Given the description of an element on the screen output the (x, y) to click on. 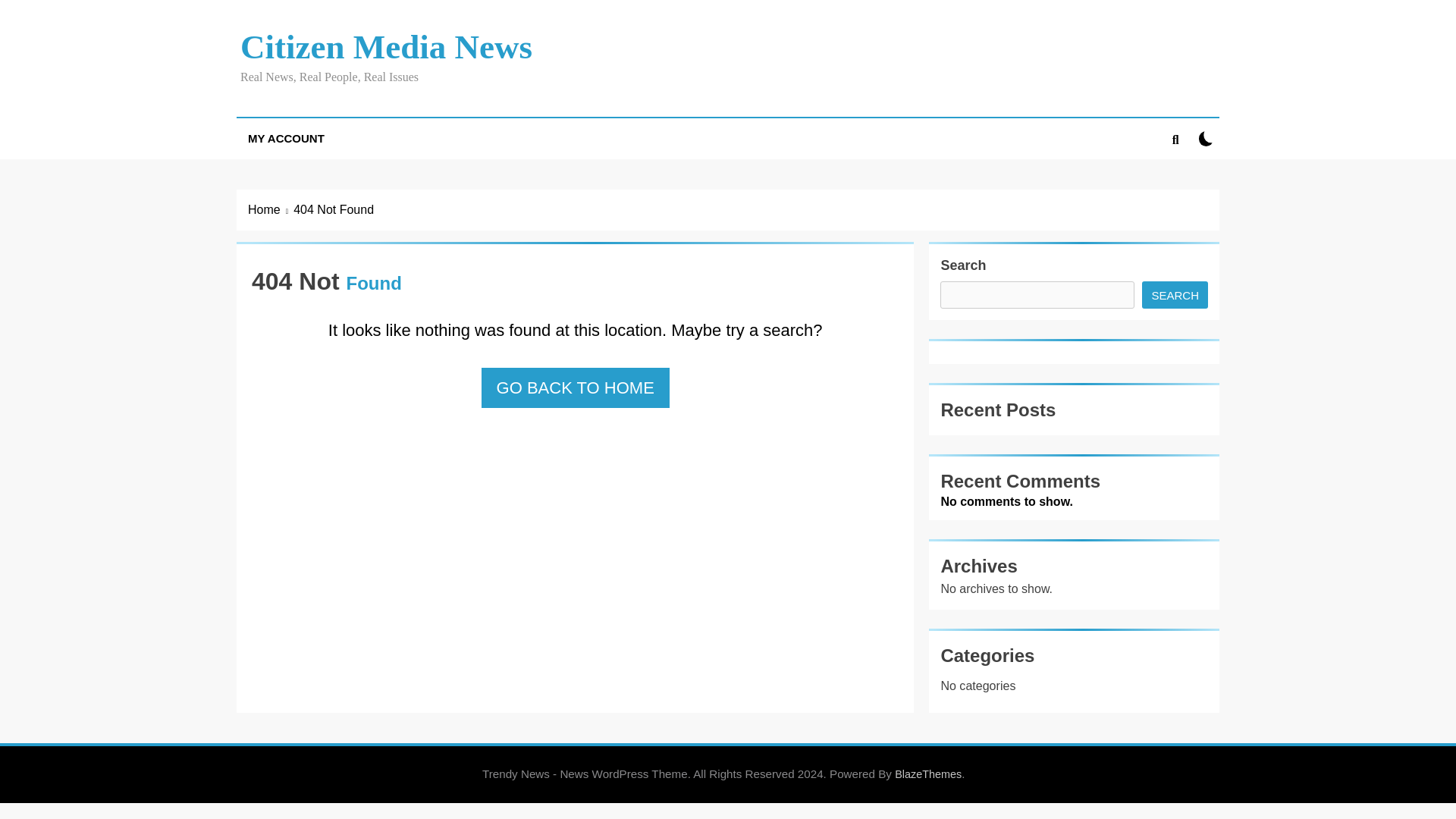
MY ACCOUNT (285, 137)
SEARCH (1174, 294)
Citizen Media News (386, 46)
on (1205, 138)
BlazeThemes (927, 774)
Home (270, 209)
GO BACK TO HOME (575, 387)
